Given the description of an element on the screen output the (x, y) to click on. 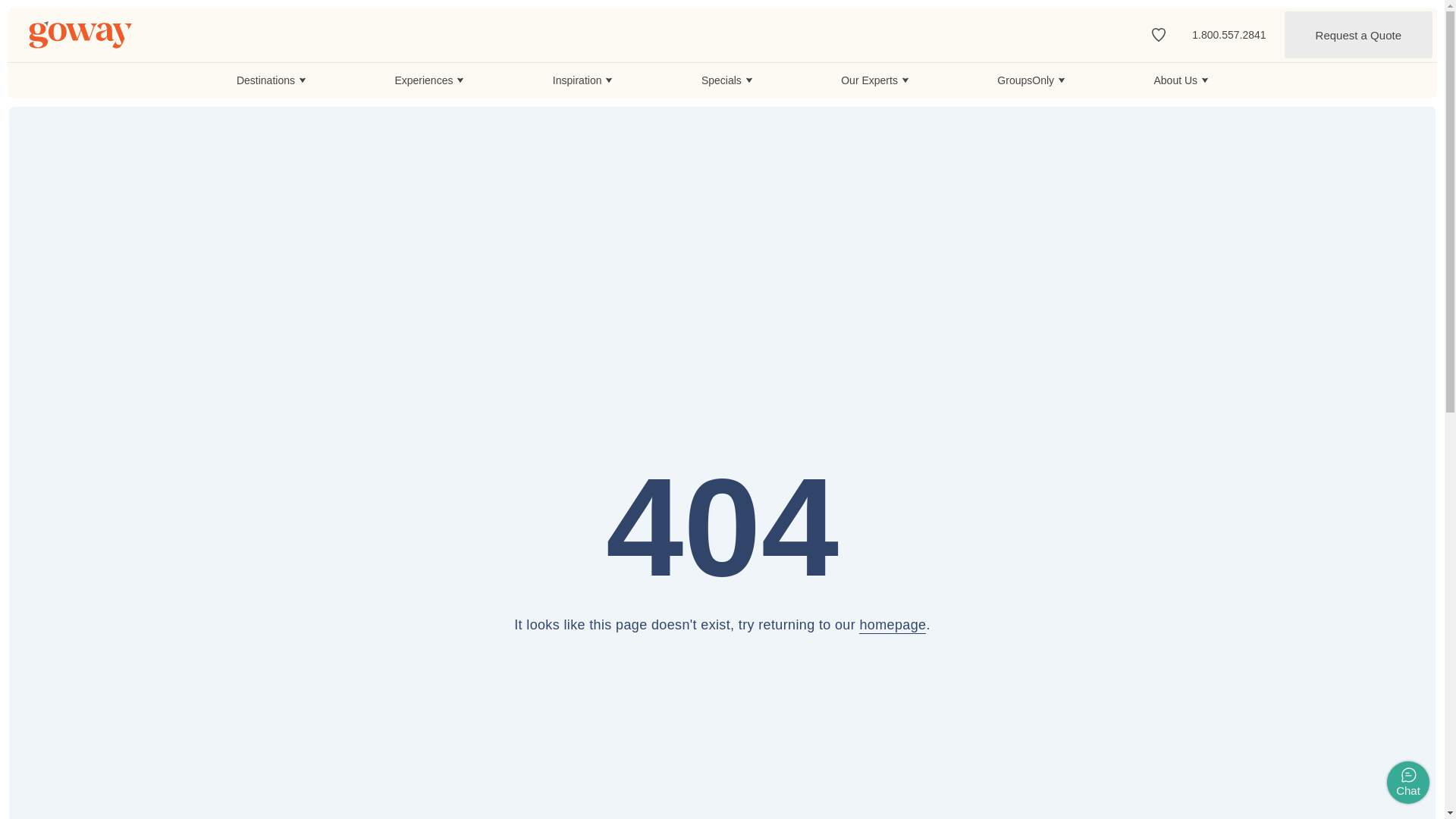
Destinations (270, 80)
1.800.557.2841 (1228, 34)
Request a Quote (1358, 34)
